Given the description of an element on the screen output the (x, y) to click on. 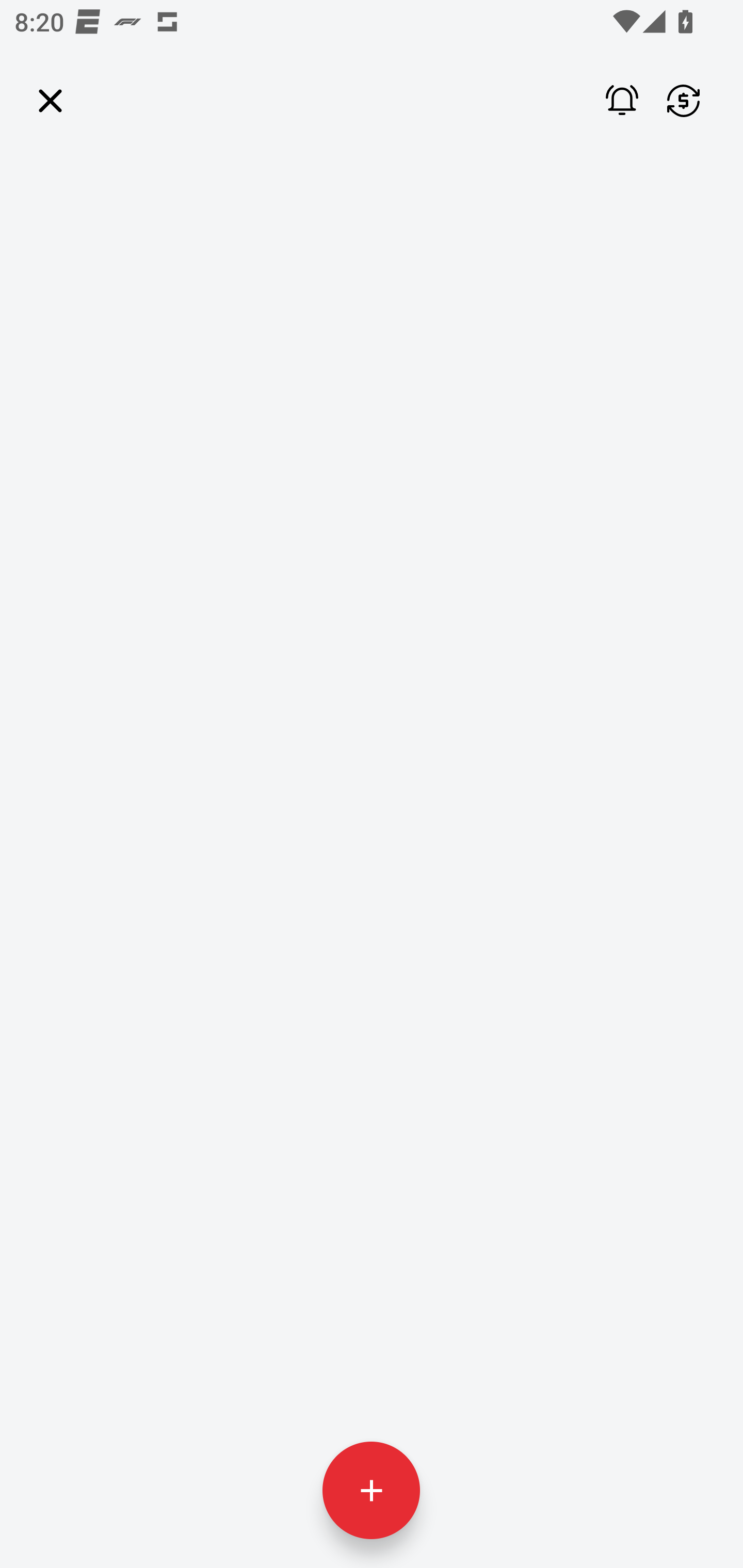
Leading Icon (50, 101)
Notification Settings (609, 101)
Finance Widget Settings (683, 101)
Add Currencies (370, 1489)
